Given the description of an element on the screen output the (x, y) to click on. 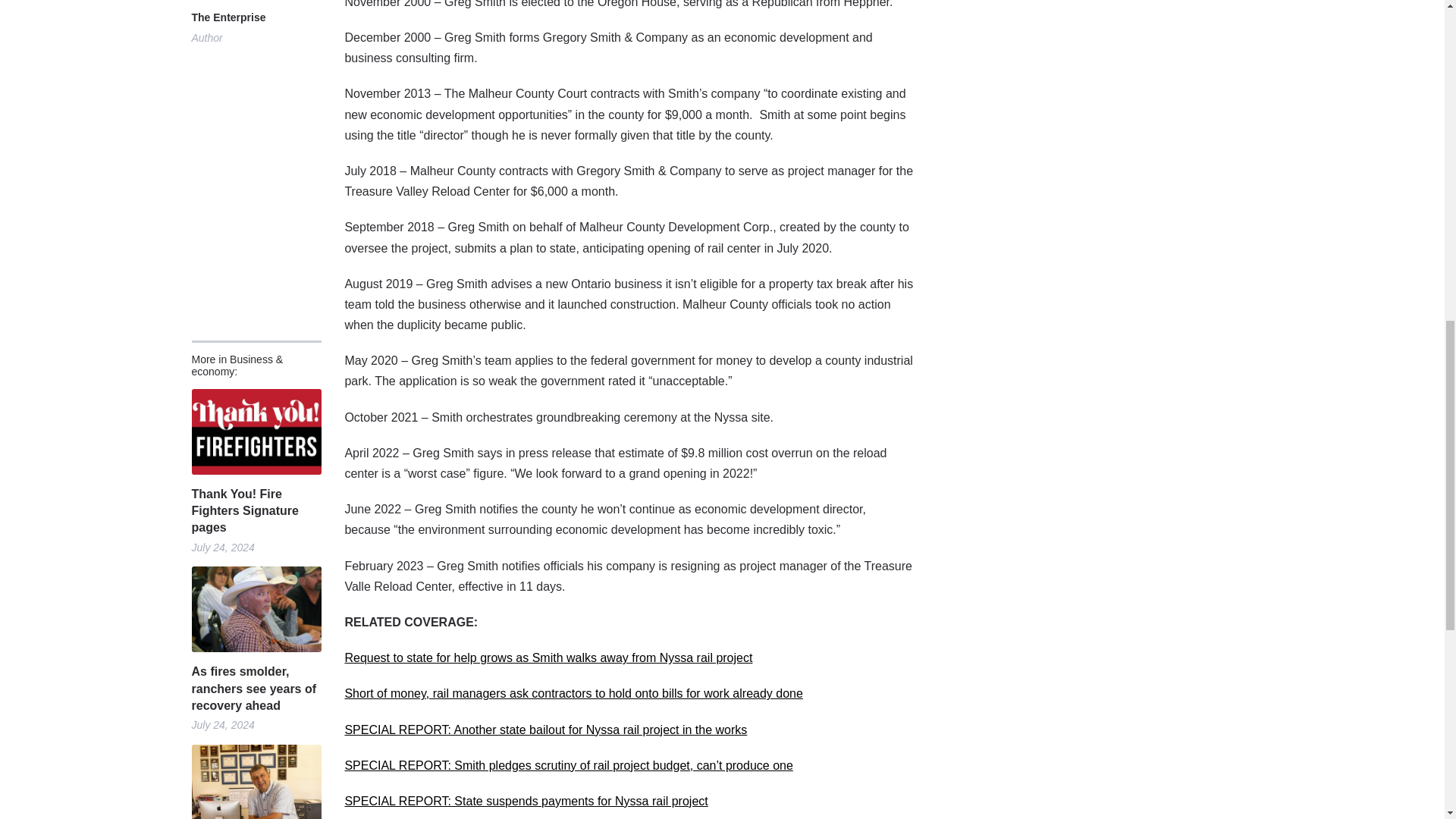
The Enterprise (227, 18)
Permalink to Thank You! Fire Fighters Signature pages (255, 432)
As fires smolder, ranchers see years of recovery ahead (255, 688)
Permalink to Thank You! Fire Fighters Signature pages (255, 511)
Posts by The Enterprise (227, 18)
Thank You! Fire Fighters Signature pages (255, 511)
